Given the description of an element on the screen output the (x, y) to click on. 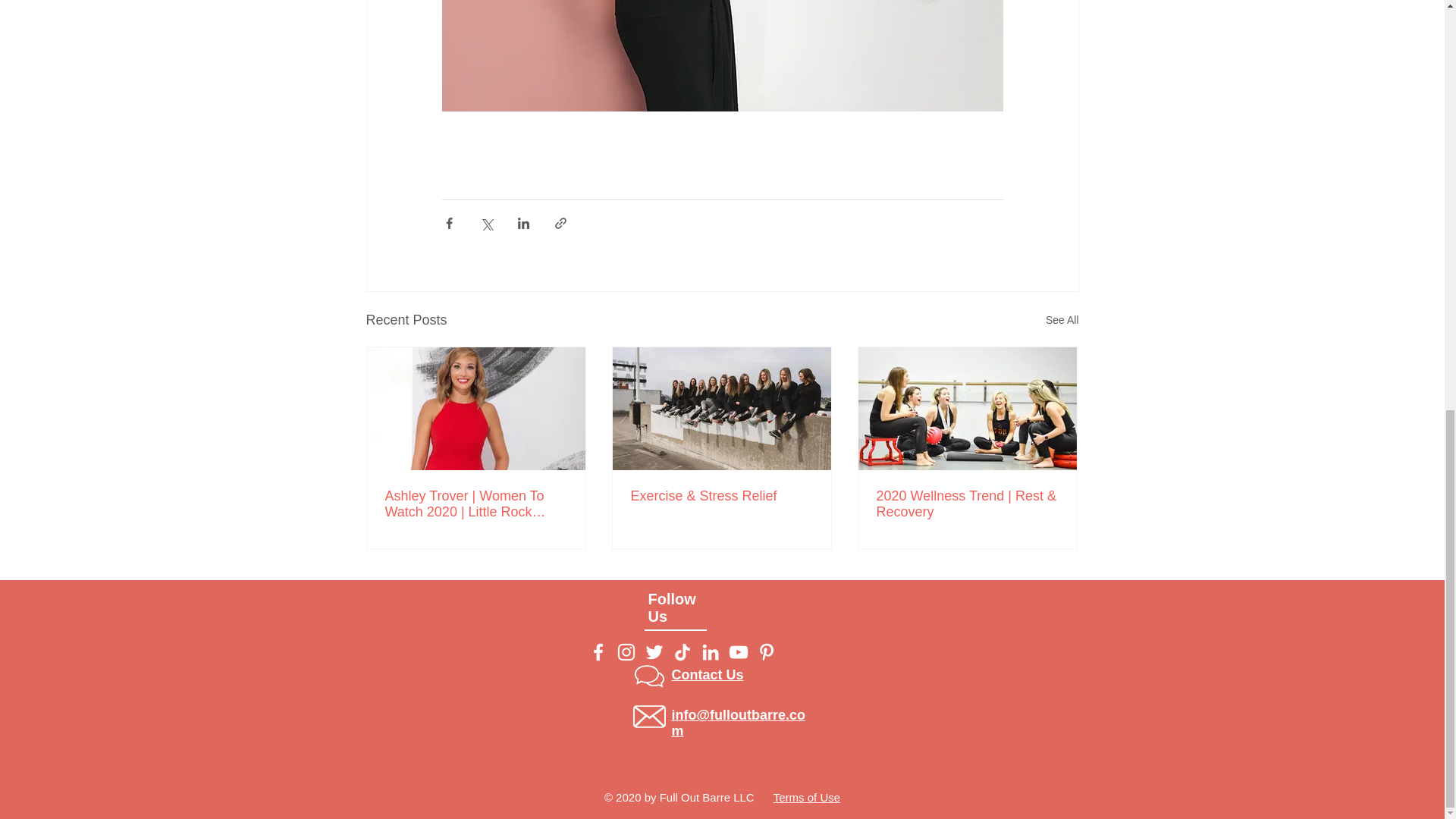
Terms of Use (806, 797)
See All (1061, 320)
Contact Us (707, 674)
